Given the description of an element on the screen output the (x, y) to click on. 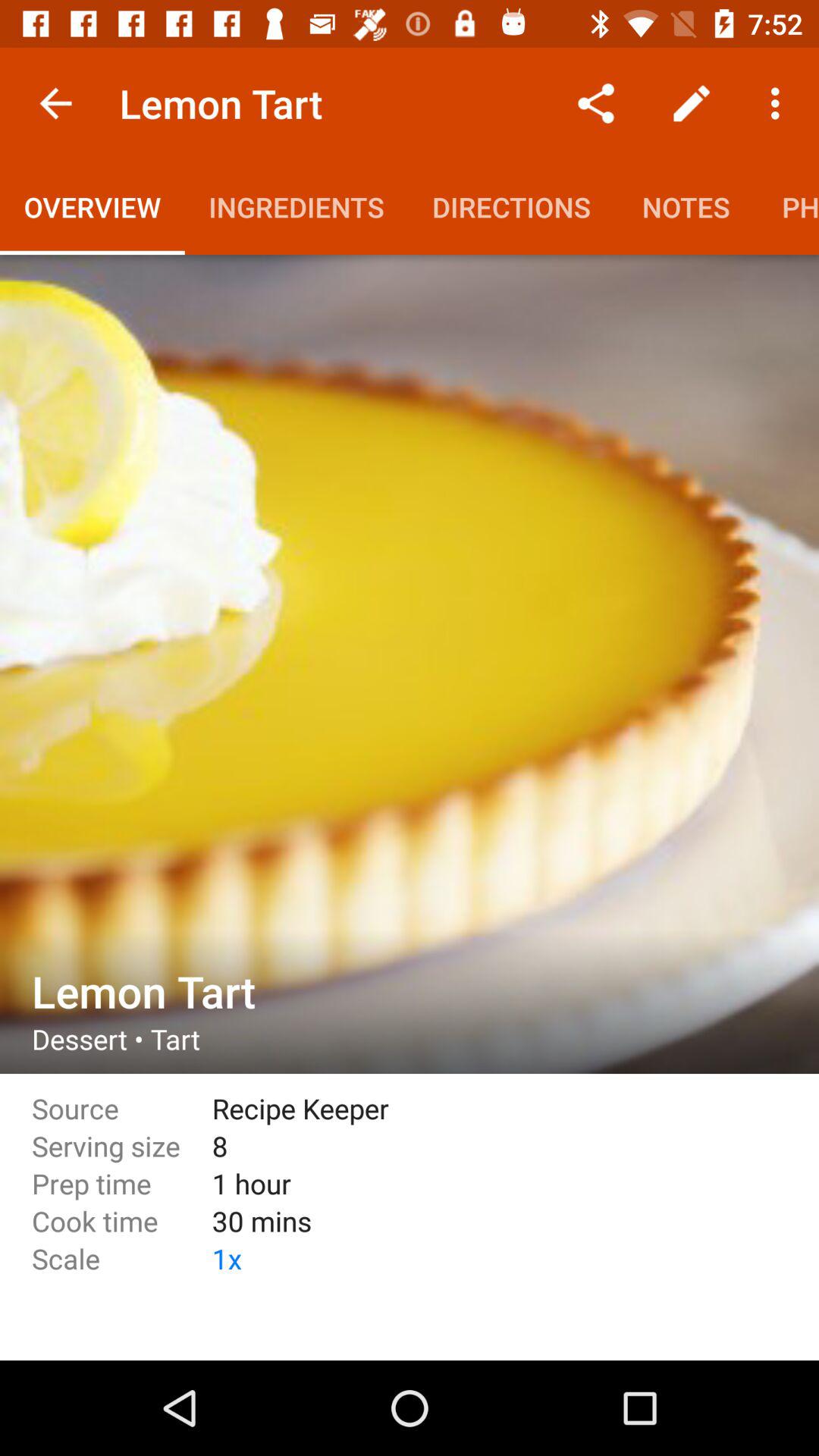
tap the icon above directions item (595, 103)
